Given the description of an element on the screen output the (x, y) to click on. 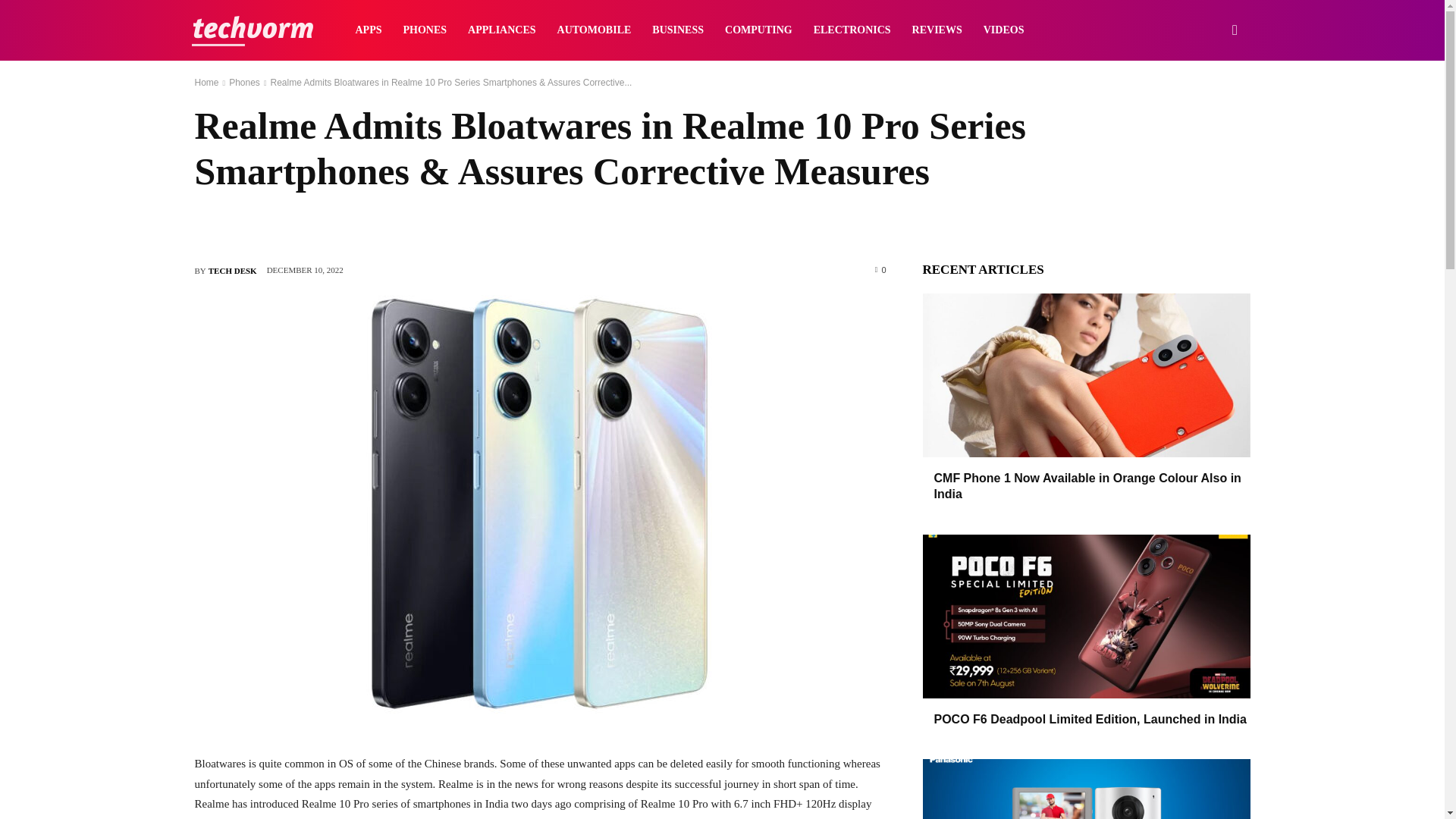
ELECTRONICS (852, 30)
APPLIANCES (501, 30)
PHONES (425, 30)
Technology news, as it happens! (251, 30)
BUSINESS (678, 30)
APPS (367, 30)
TechVorm (251, 30)
VIDEOS (1003, 30)
Phones (244, 81)
Search (1210, 102)
REVIEWS (936, 30)
